Given the description of an element on the screen output the (x, y) to click on. 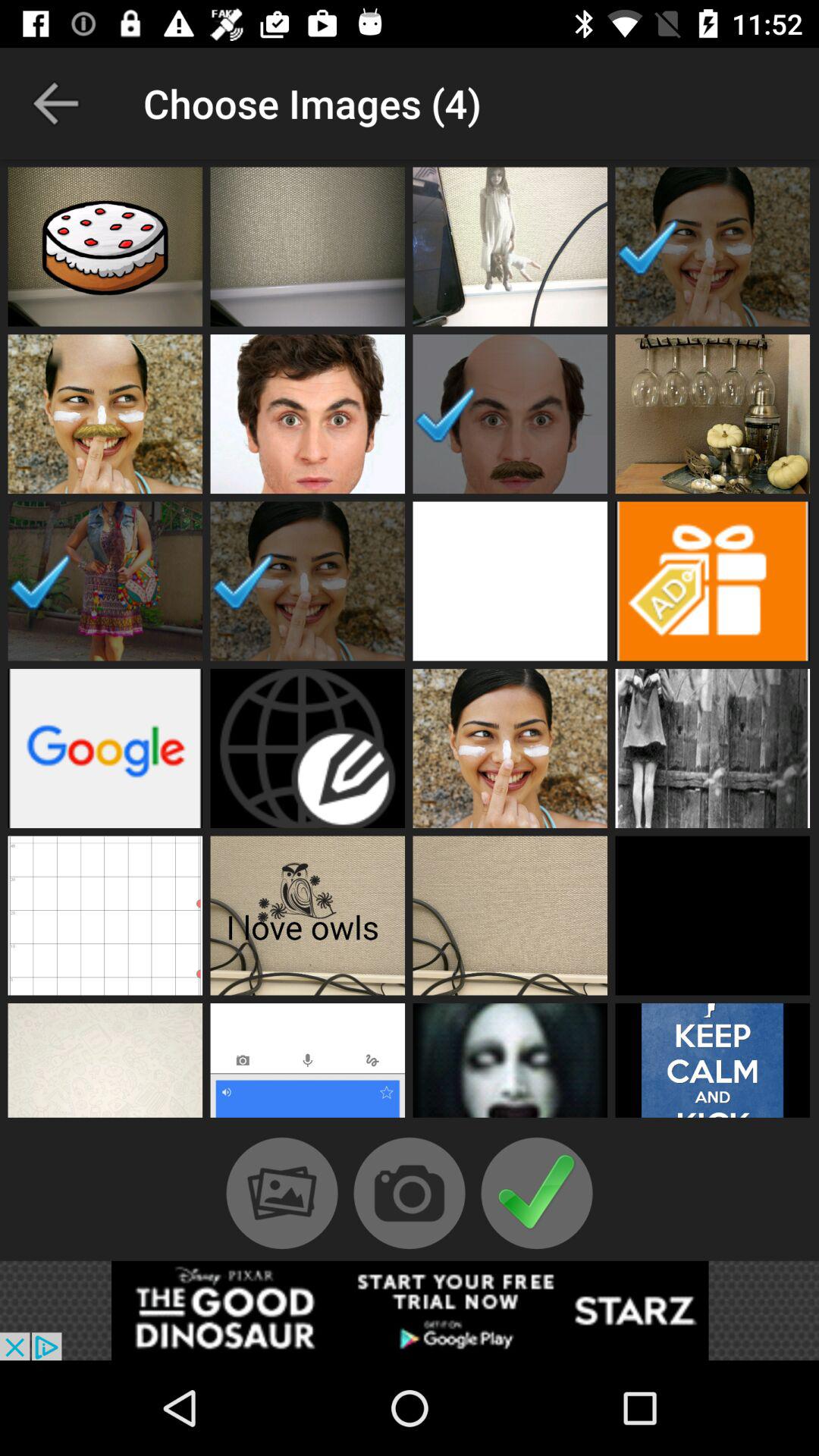
choose image (509, 915)
